Given the description of an element on the screen output the (x, y) to click on. 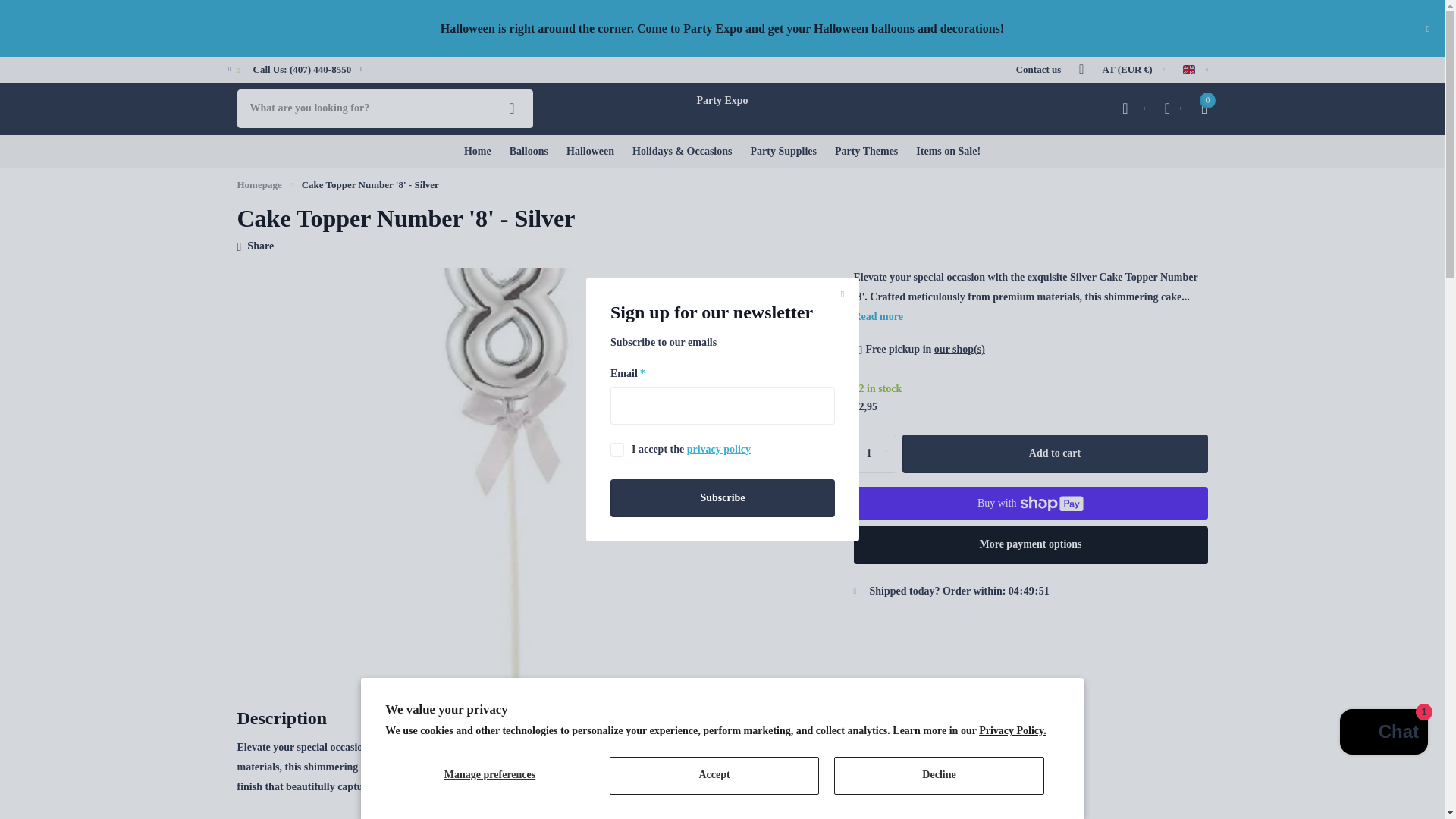
Privacy Policy (717, 449)
1 (874, 453)
Privacy Policy. (1012, 730)
Manage preferences (489, 775)
Shopify online store chat (1383, 733)
Decline (938, 775)
Accept (714, 775)
Next (360, 69)
Home (258, 184)
Contact us (1038, 69)
